Given the description of an element on the screen output the (x, y) to click on. 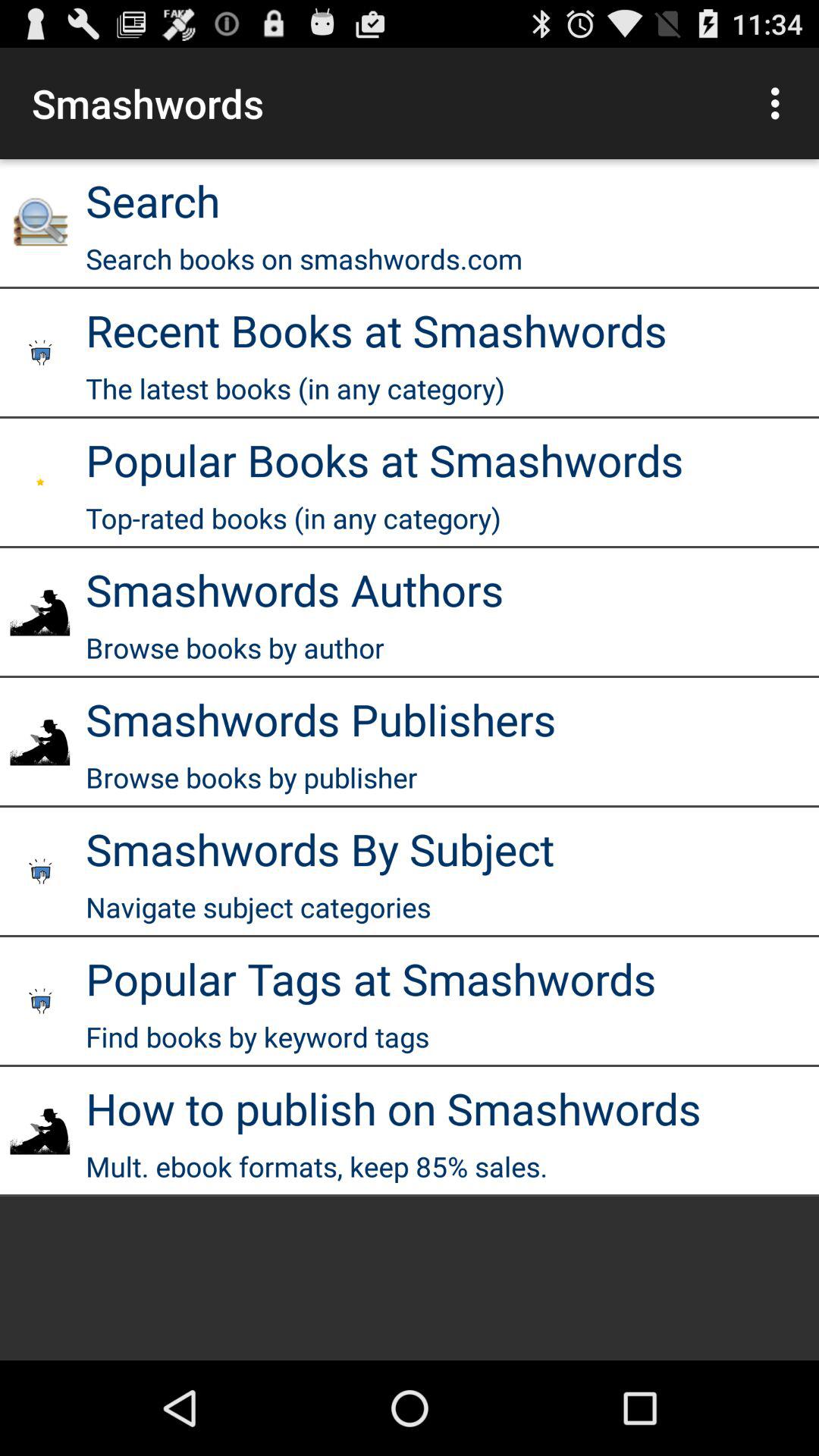
turn on the item below smashwords by subject (258, 906)
